Given the description of an element on the screen output the (x, y) to click on. 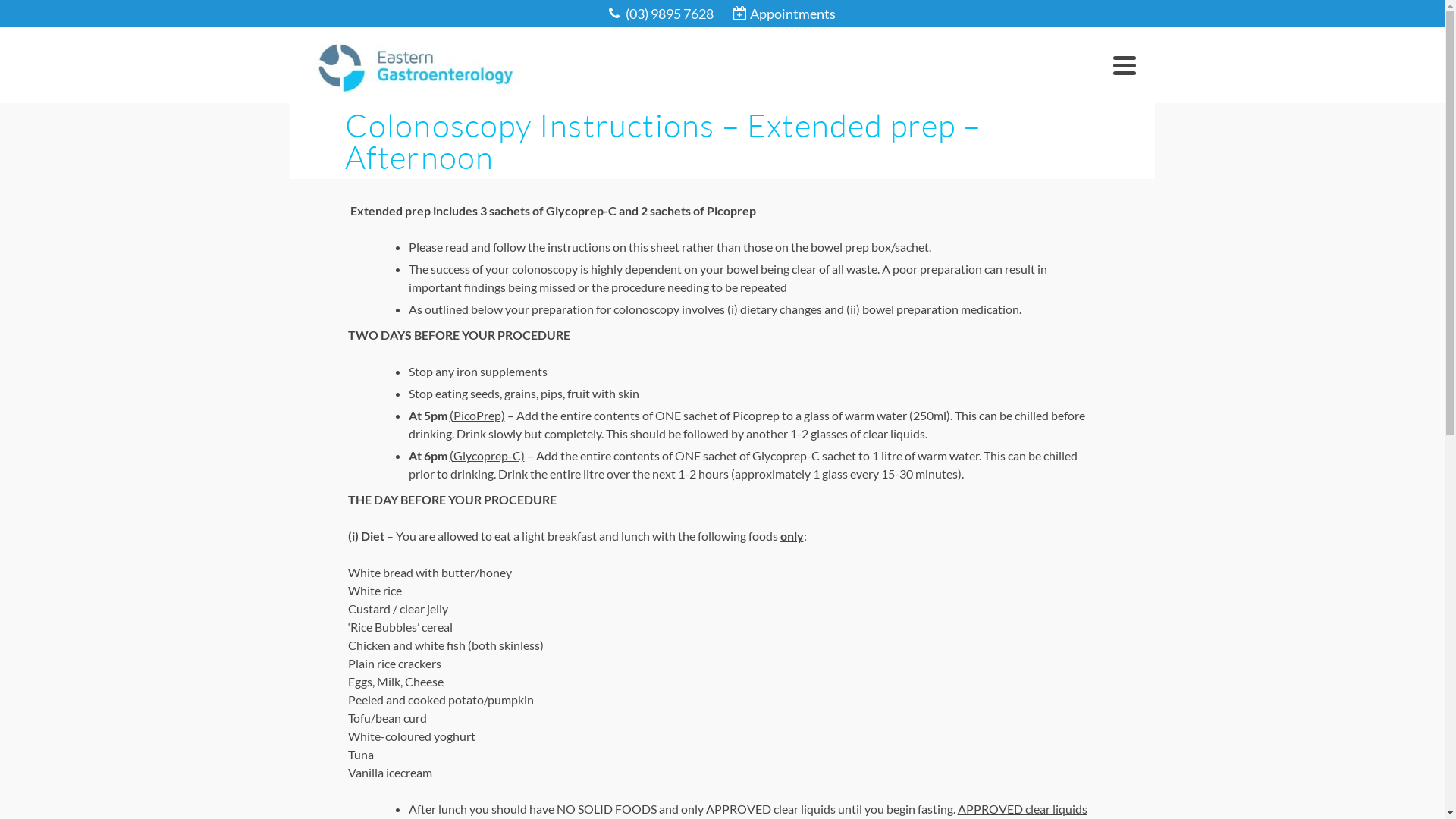
Appointments Element type: text (784, 13)
(03) 9895 7628 Element type: text (661, 13)
